Given the description of an element on the screen output the (x, y) to click on. 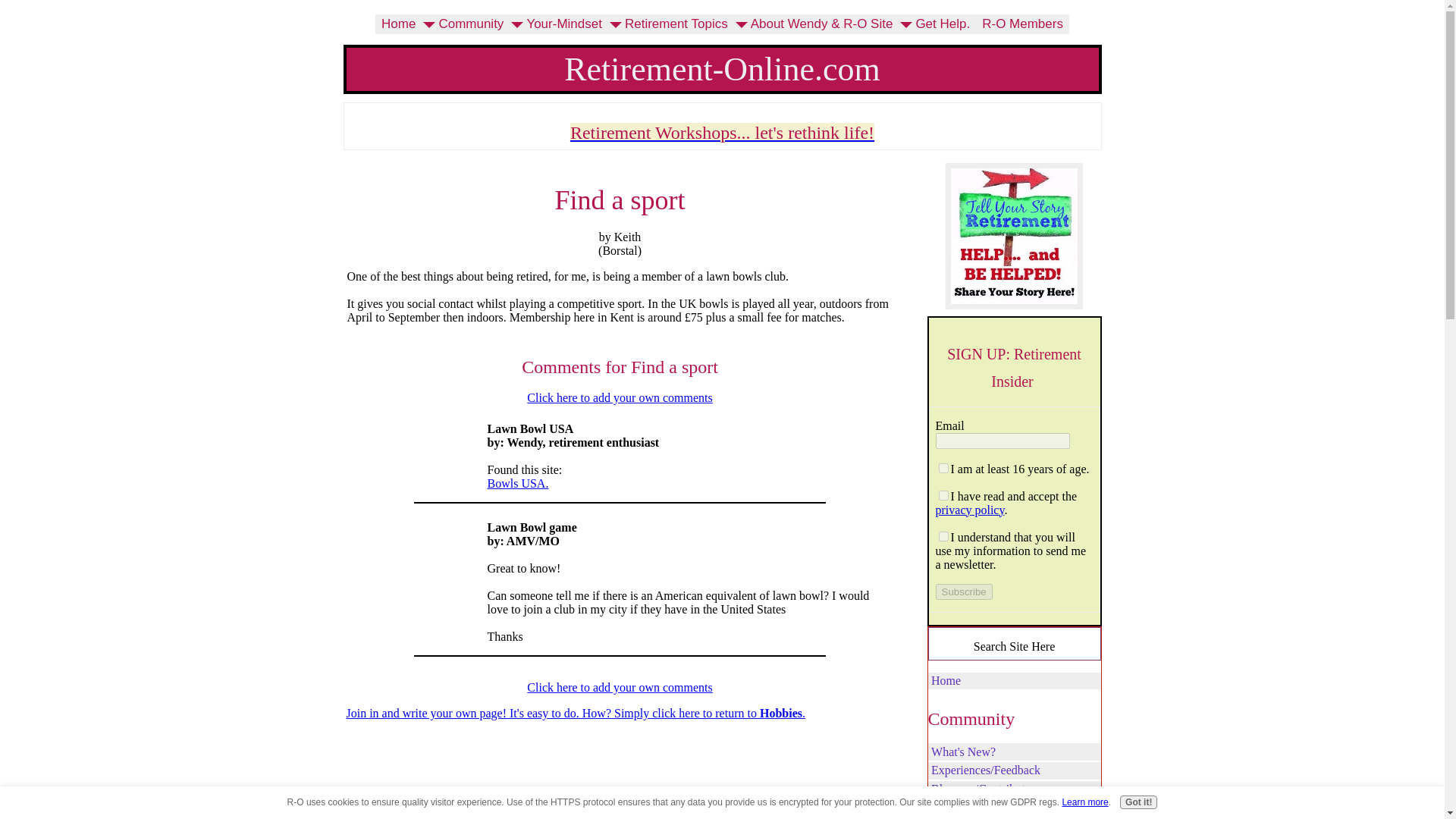
Home (398, 24)
Retirement-Online.com (722, 68)
on (944, 495)
on (944, 536)
on (944, 468)
Go to Great Retirement Advice Here from Retirees  (1013, 305)
